Given the description of an element on the screen output the (x, y) to click on. 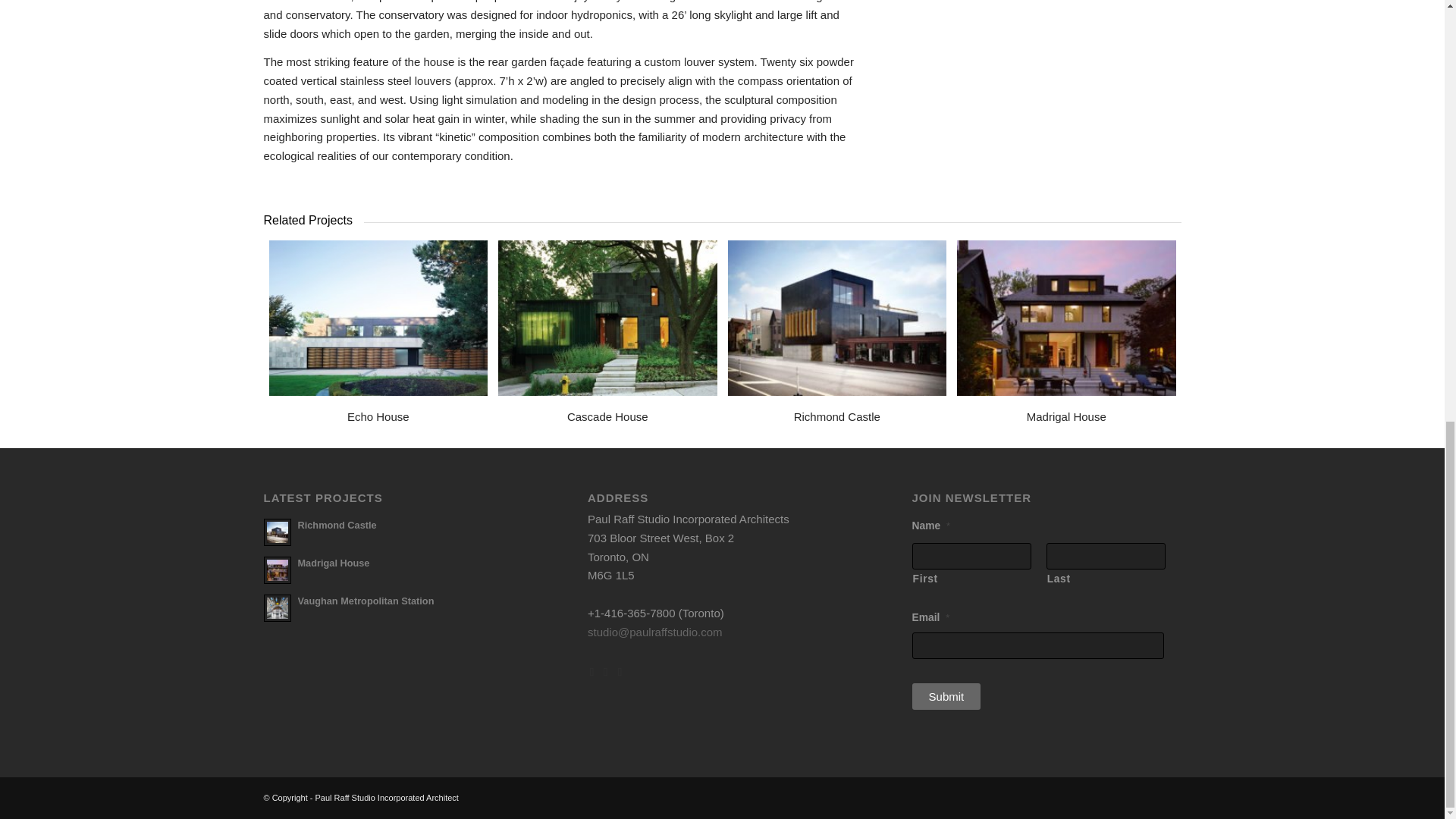
Richmond Castle (336, 524)
Submit (946, 696)
Madrigal House (333, 562)
Richmond Castle (836, 416)
Echo House (378, 416)
Cascade House (607, 317)
Echo House (377, 317)
Cascade House (607, 416)
Echo House (378, 416)
Madrigal House (1066, 416)
